Given the description of an element on the screen output the (x, y) to click on. 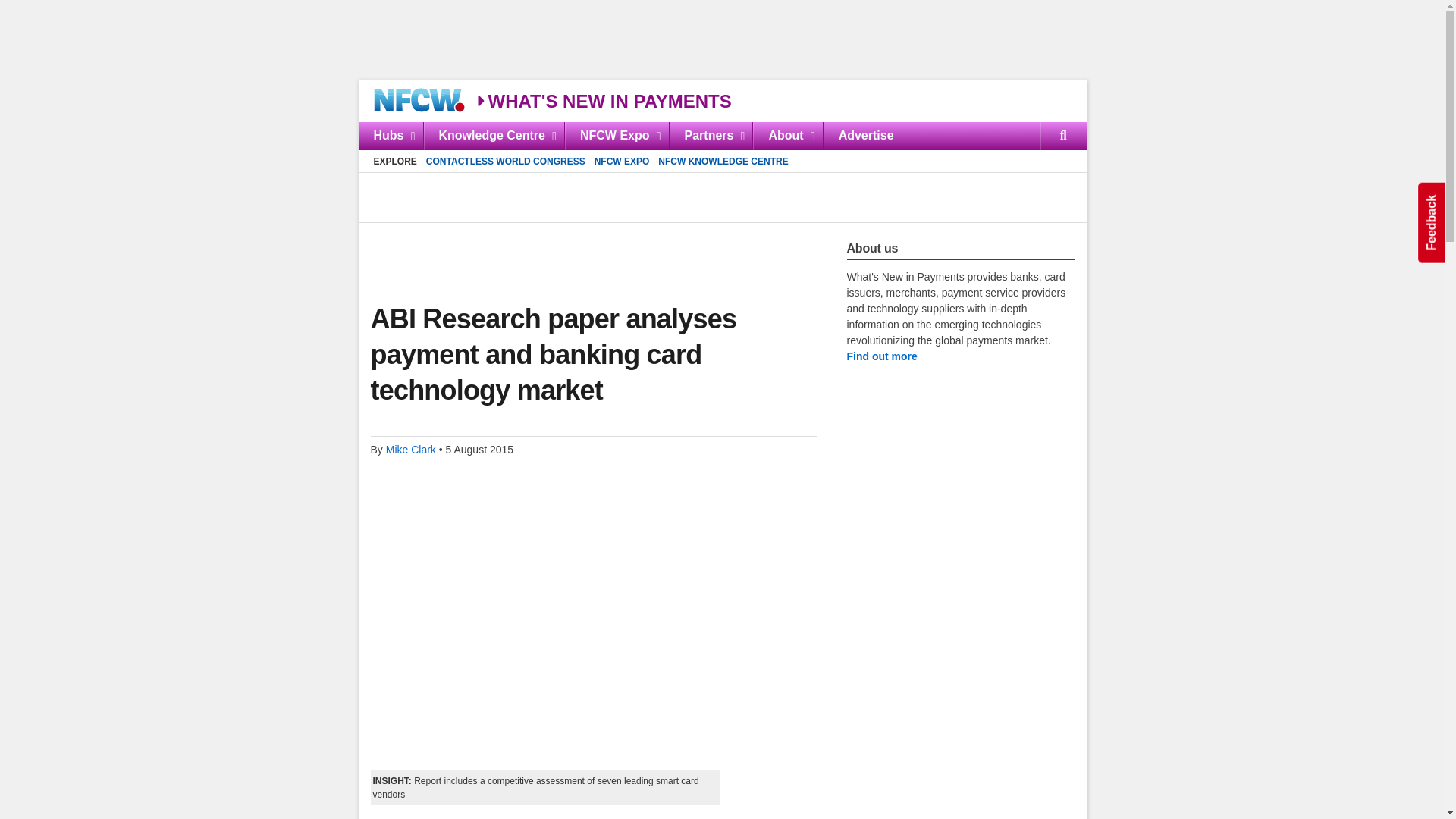
NFCW Expo (616, 135)
Knowledge Centre (493, 135)
Partners (710, 135)
7 June 2022, 14:16 BST (722, 135)
WHAT'S NEW IN PAYMENTS (581, 250)
5 August 2015, 13:25 BST (603, 100)
